Given the description of an element on the screen output the (x, y) to click on. 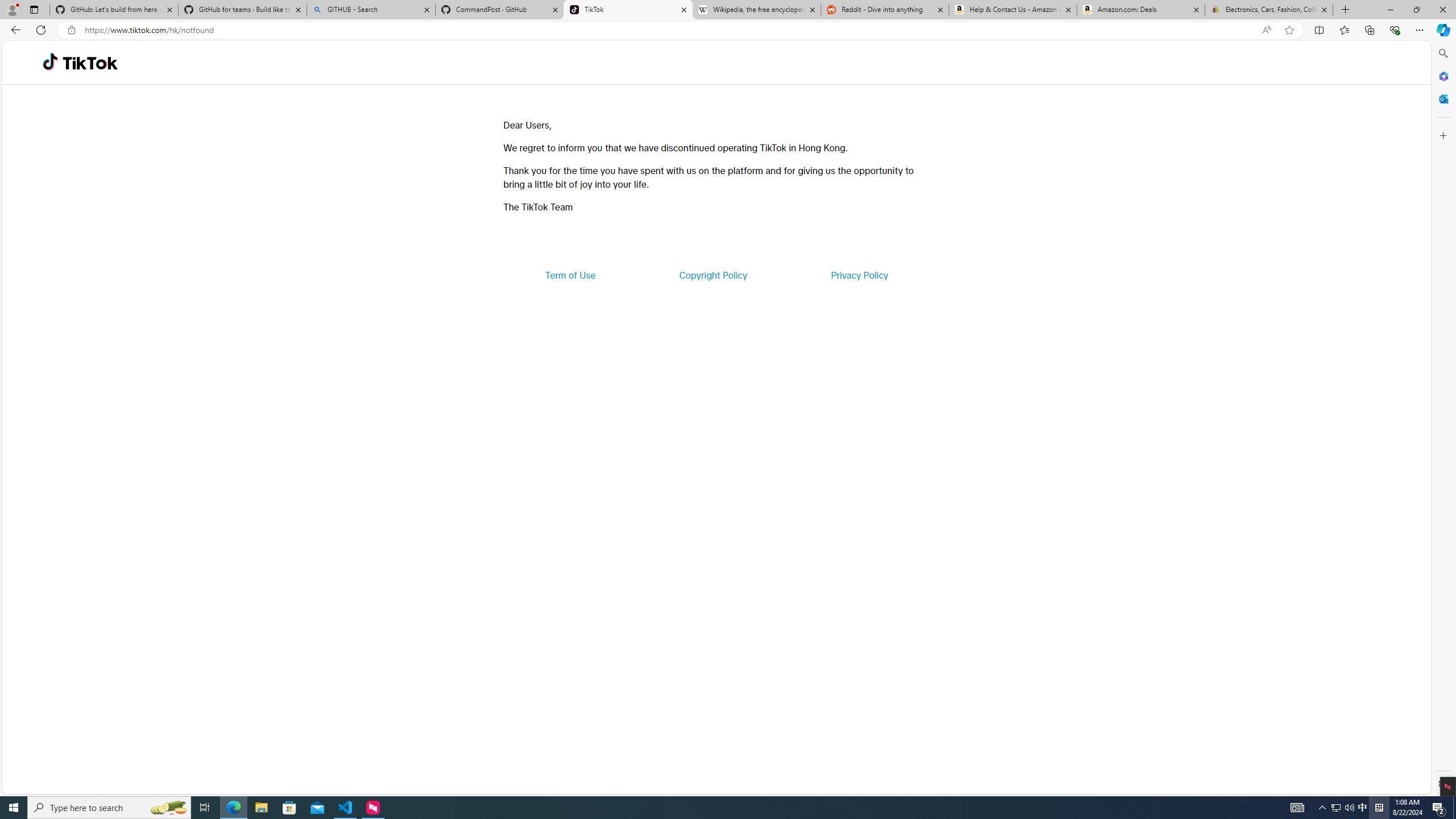
Amazon.com: Deals (1140, 9)
GITHUB - Search (370, 9)
Reddit - Dive into anything (884, 9)
Wikipedia, the free encyclopedia (756, 9)
TikTok (628, 9)
TikTok (89, 62)
